Given the description of an element on the screen output the (x, y) to click on. 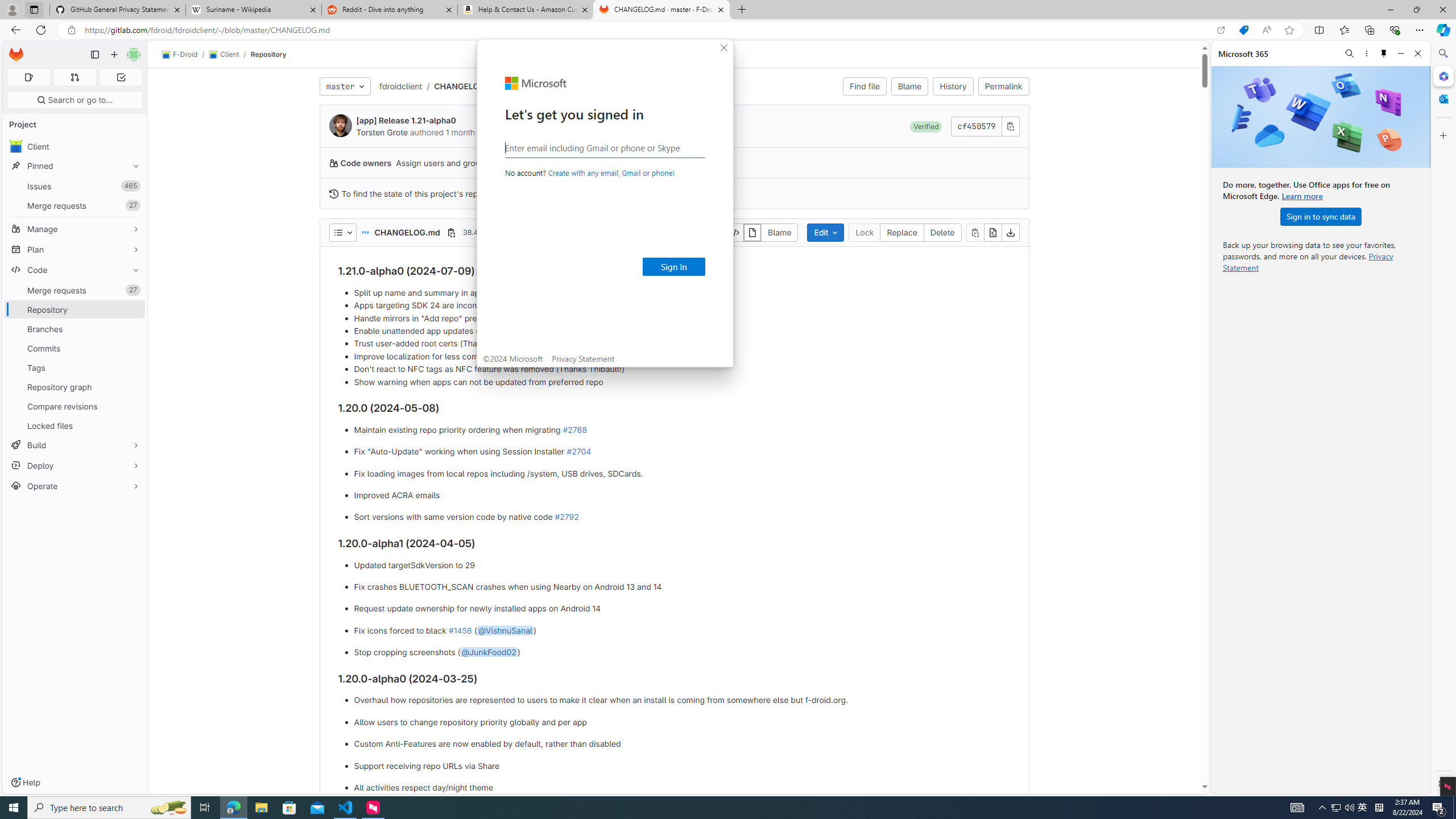
Repository (268, 53)
Pinned (74, 165)
Build (74, 444)
Blame (909, 85)
Assigned issues 0 (28, 76)
Repository graph (74, 386)
Plan (74, 248)
Issues 465 (74, 185)
Task View (204, 807)
Permalink (1002, 85)
